Given the description of an element on the screen output the (x, y) to click on. 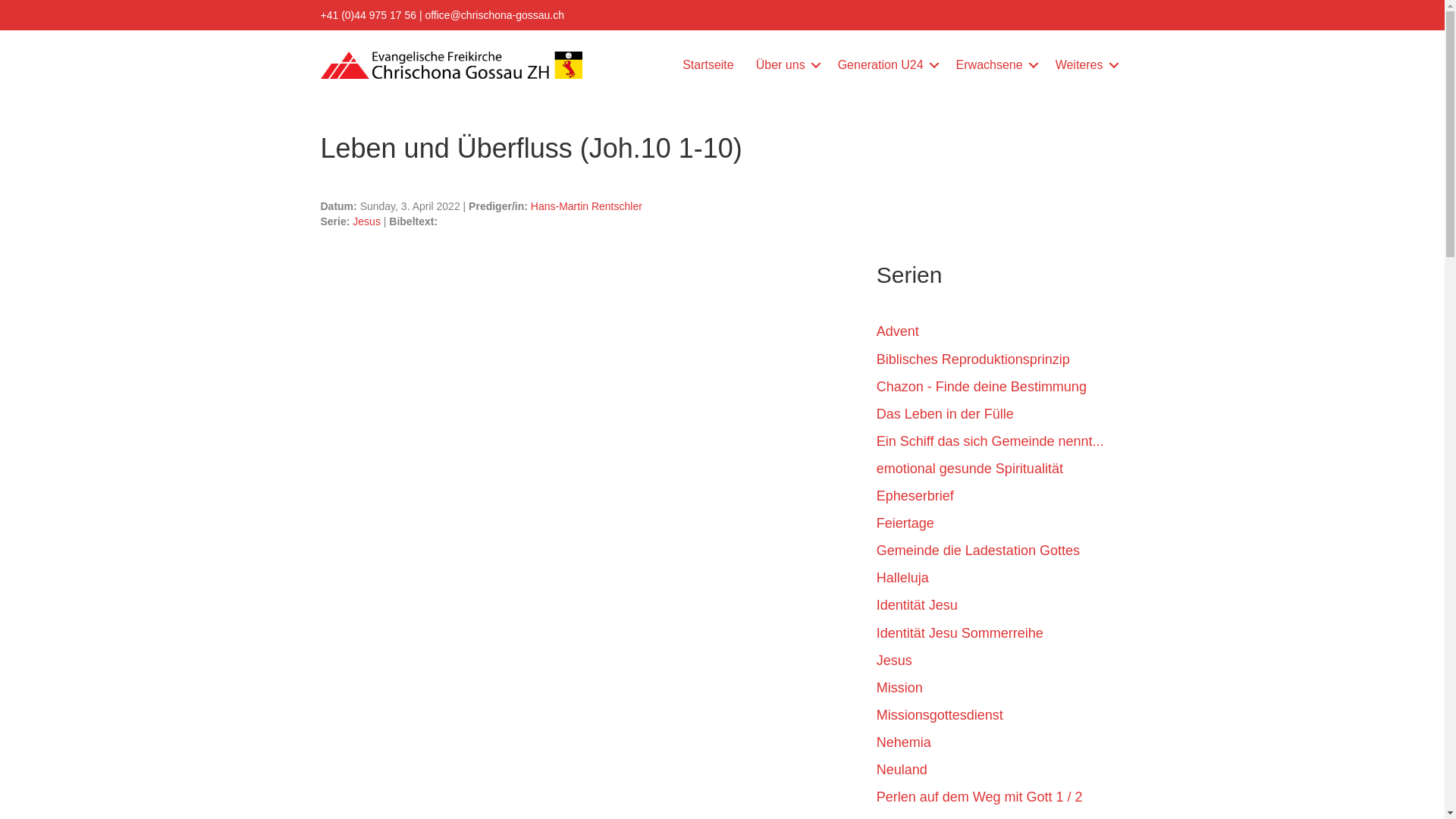
Missionsgottesdienst Element type: text (1000, 718)
Biblisches Reproduktionsprinzip Element type: text (1000, 362)
Weiteres Element type: text (1084, 64)
Startseite Element type: text (707, 64)
Neuland Element type: text (1000, 773)
Halleluja Element type: text (1000, 581)
Feiertage Element type: text (1000, 526)
Ein Schiff das sich Gemeinde nennt... Element type: text (1000, 444)
Advent Element type: text (1000, 334)
+41 (0)44 975 17 56 Element type: text (368, 15)
Chrischona Gossau ZH Element type: hover (450, 64)
Chazon - Finde deine Bestimmung Element type: text (1000, 390)
Perlen auf dem Weg mit Gott 1 / 2 Element type: text (1000, 800)
Jesus Element type: text (366, 221)
Gemeinde die Ladestation Gottes Element type: text (1000, 553)
Nehemia Element type: text (1000, 745)
Hans-Martin Rentschler Element type: text (586, 206)
Epheserbrief Element type: text (1000, 499)
Mission Element type: text (1000, 691)
office@chrischona-gossau.ch Element type: text (494, 15)
Generation U24 Element type: text (885, 64)
Erwachsene Element type: text (994, 64)
Jesus Element type: text (1000, 663)
